Given the description of an element on the screen output the (x, y) to click on. 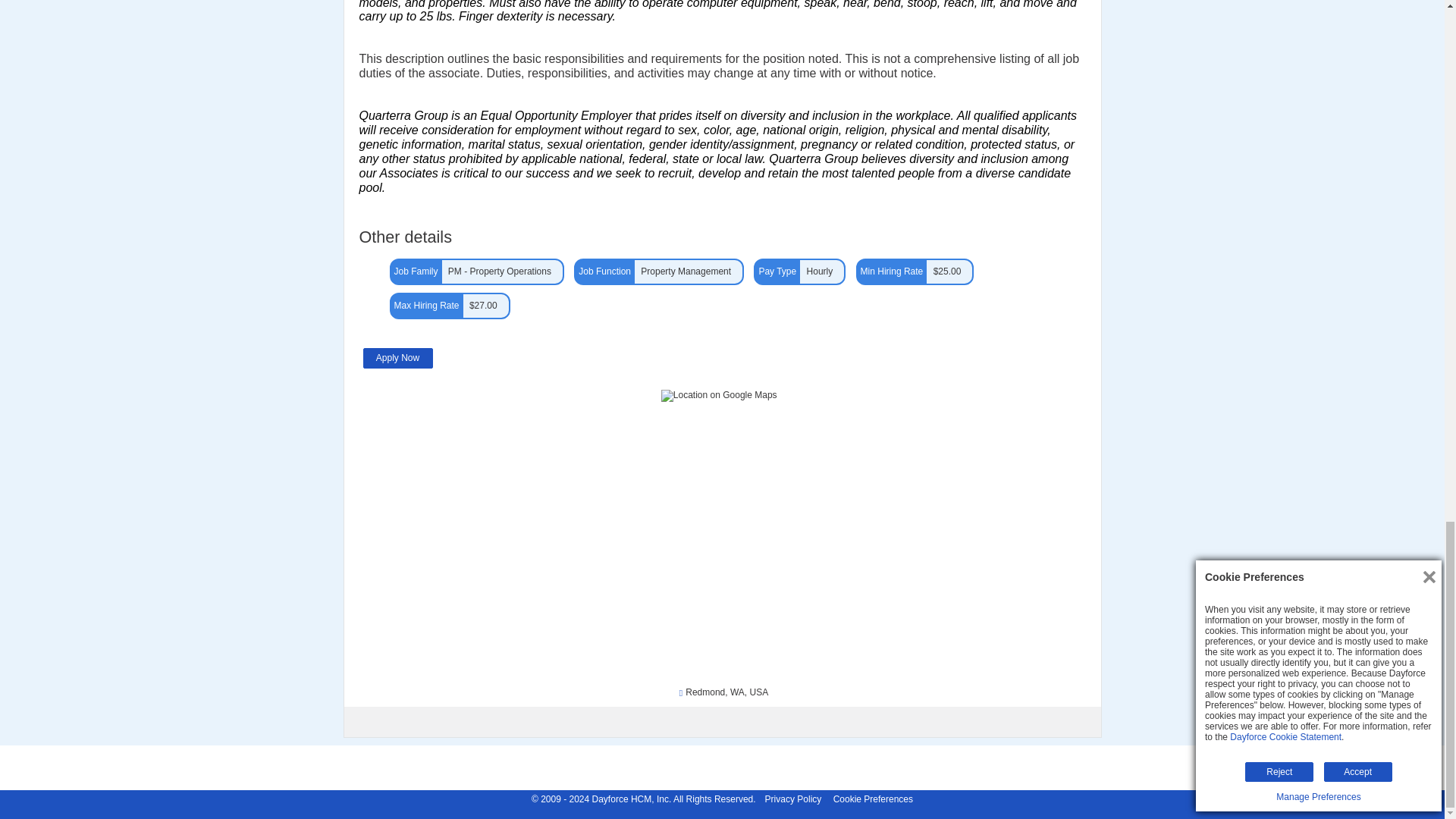
Cookie Preferences (872, 798)
Apply Now (397, 357)
Privacy Policy (793, 798)
